Given the description of an element on the screen output the (x, y) to click on. 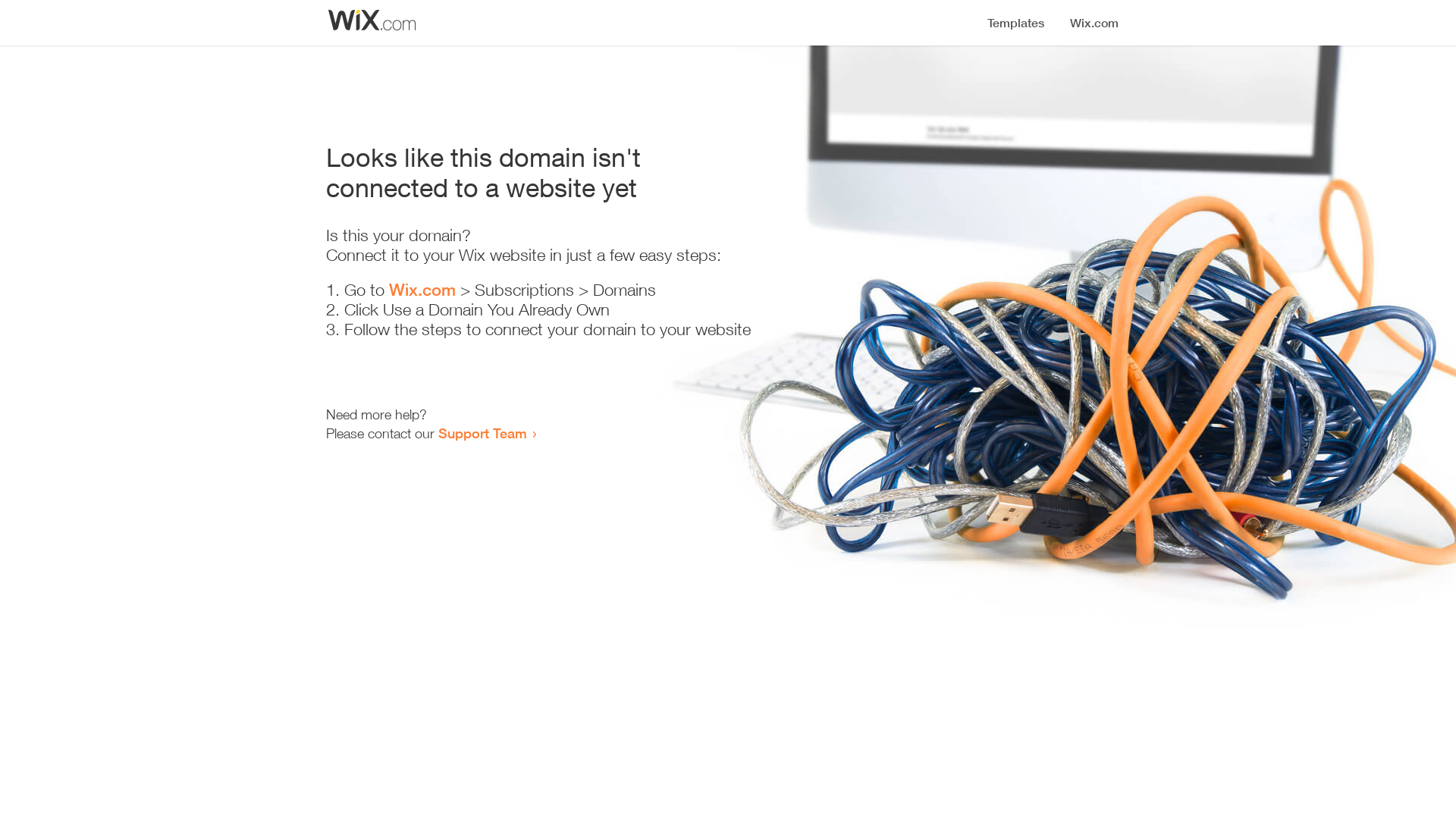
Support Team Element type: text (482, 432)
Wix.com Element type: text (422, 289)
